Given the description of an element on the screen output the (x, y) to click on. 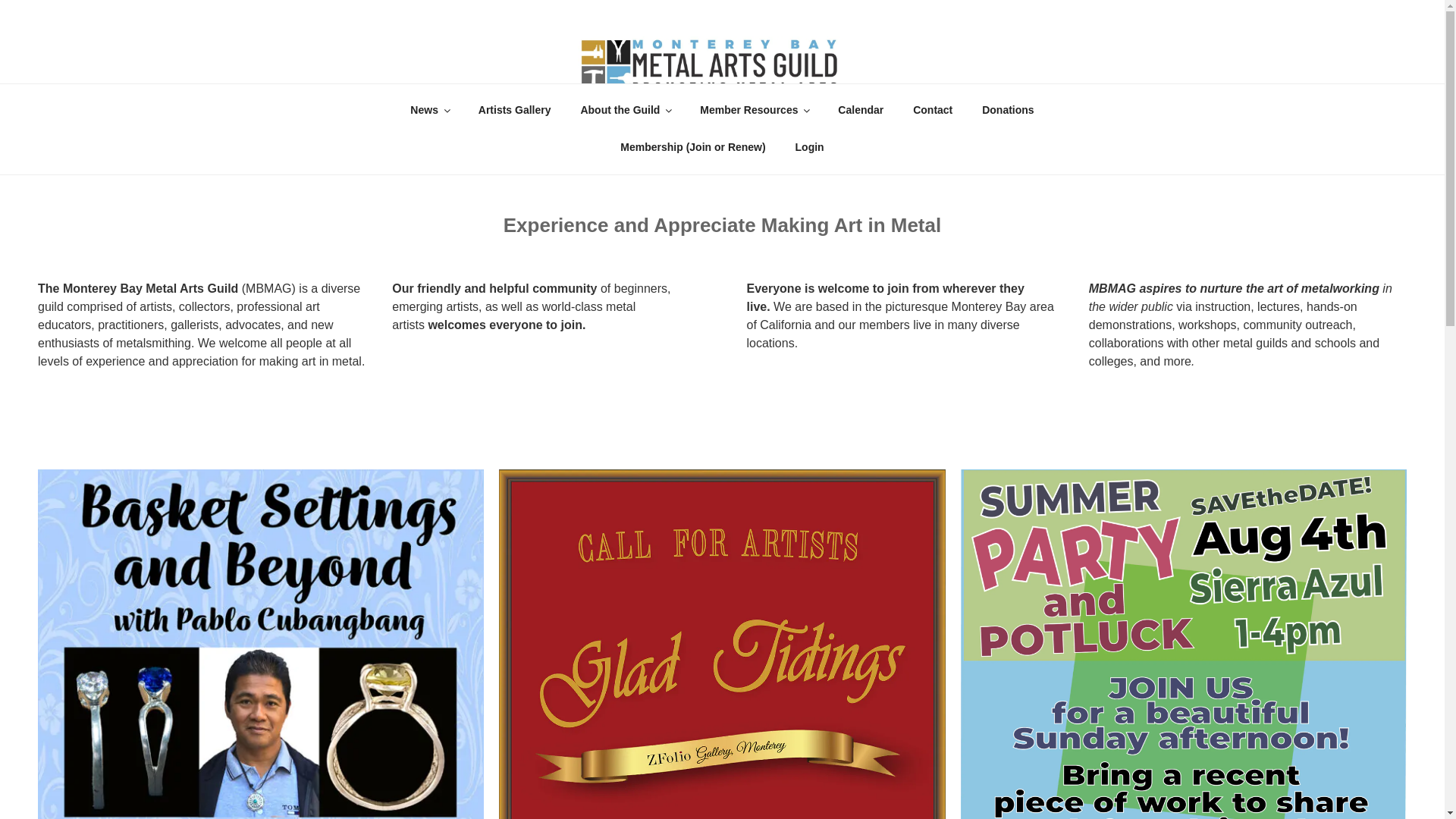
News (430, 109)
About the Guild (625, 109)
Member Resources (754, 109)
Donations (1007, 109)
Calendar (860, 109)
Artists Gallery (514, 109)
MONTEREY BAY METAL ARTS GUILD (312, 115)
Login (809, 147)
Contact (932, 109)
